Given the description of an element on the screen output the (x, y) to click on. 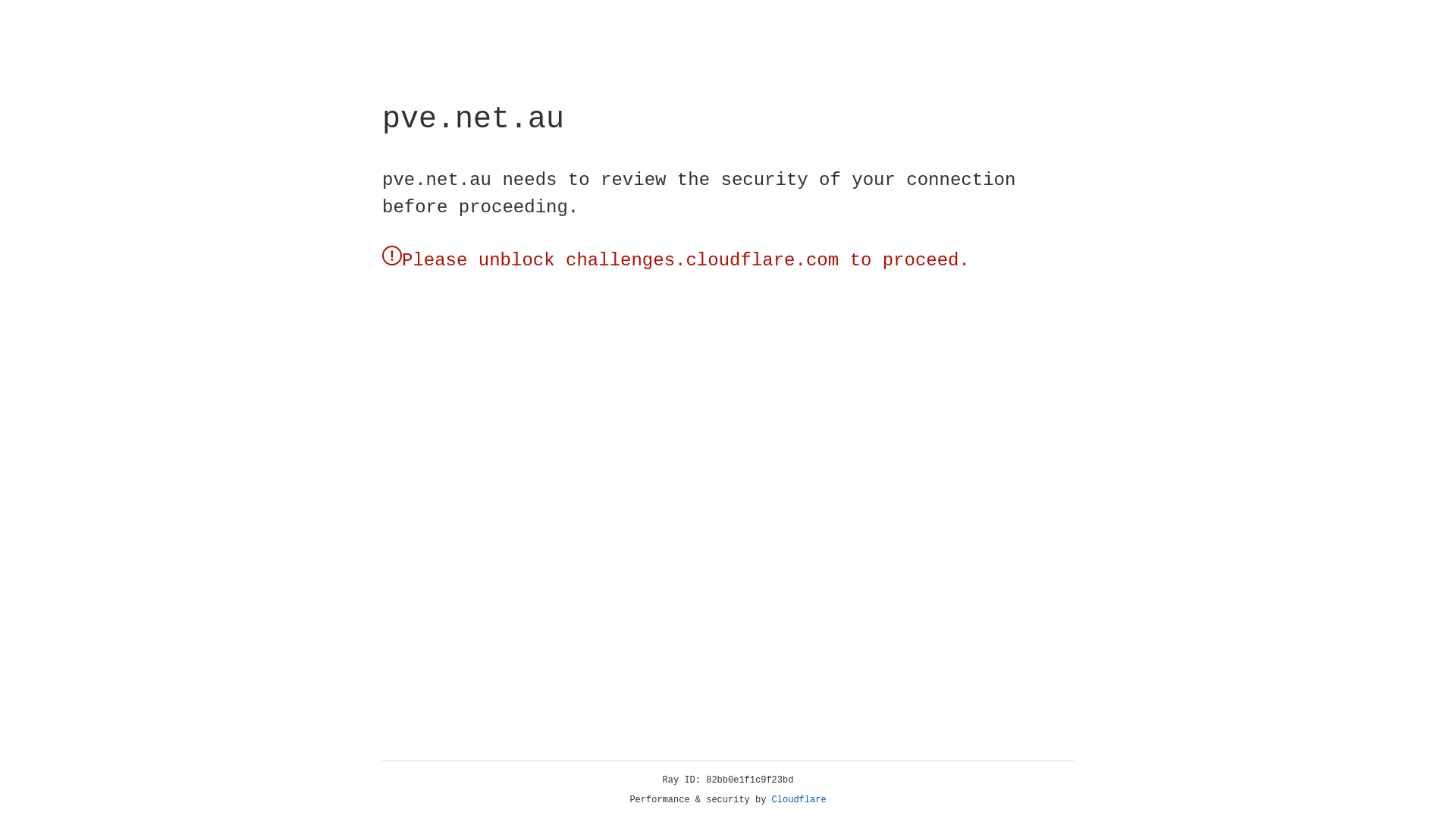
Cloudflare Element type: text (798, 799)
